Given the description of an element on the screen output the (x, y) to click on. 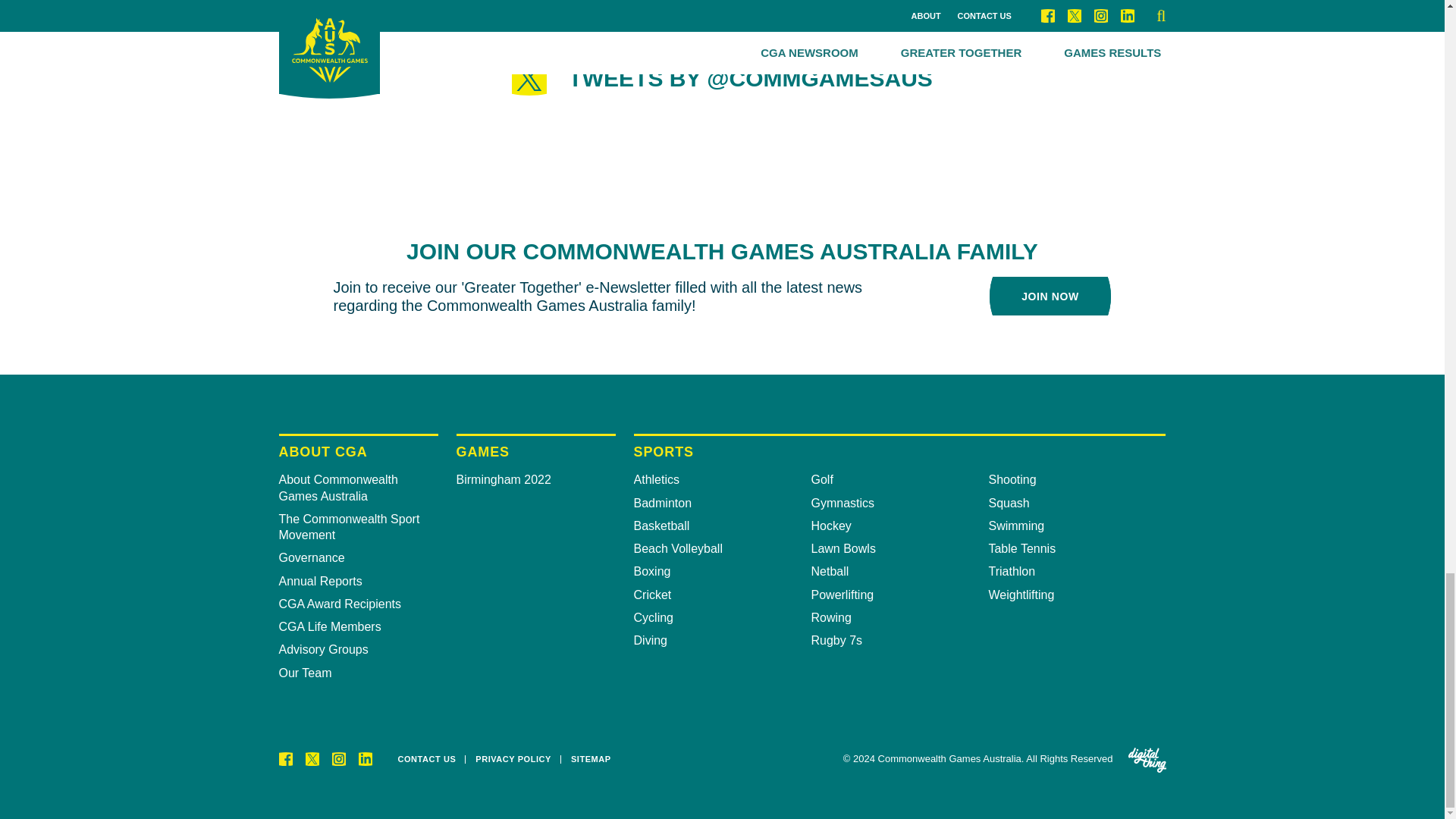
Boxing (721, 571)
CGA Award Recipients (358, 603)
JOIN NOW (1049, 295)
The Commonwealth Sport Movement (358, 527)
Athletics (721, 479)
Cricket (721, 594)
CGA Life Members (358, 626)
Cycling (721, 617)
About Commonwealth Games Australia (358, 487)
Birmingham 2022 (536, 479)
Beach Volleyball (721, 548)
Advisory Groups (358, 649)
Governance (358, 557)
Basketball (721, 525)
Annual Reports (358, 580)
